Given the description of an element on the screen output the (x, y) to click on. 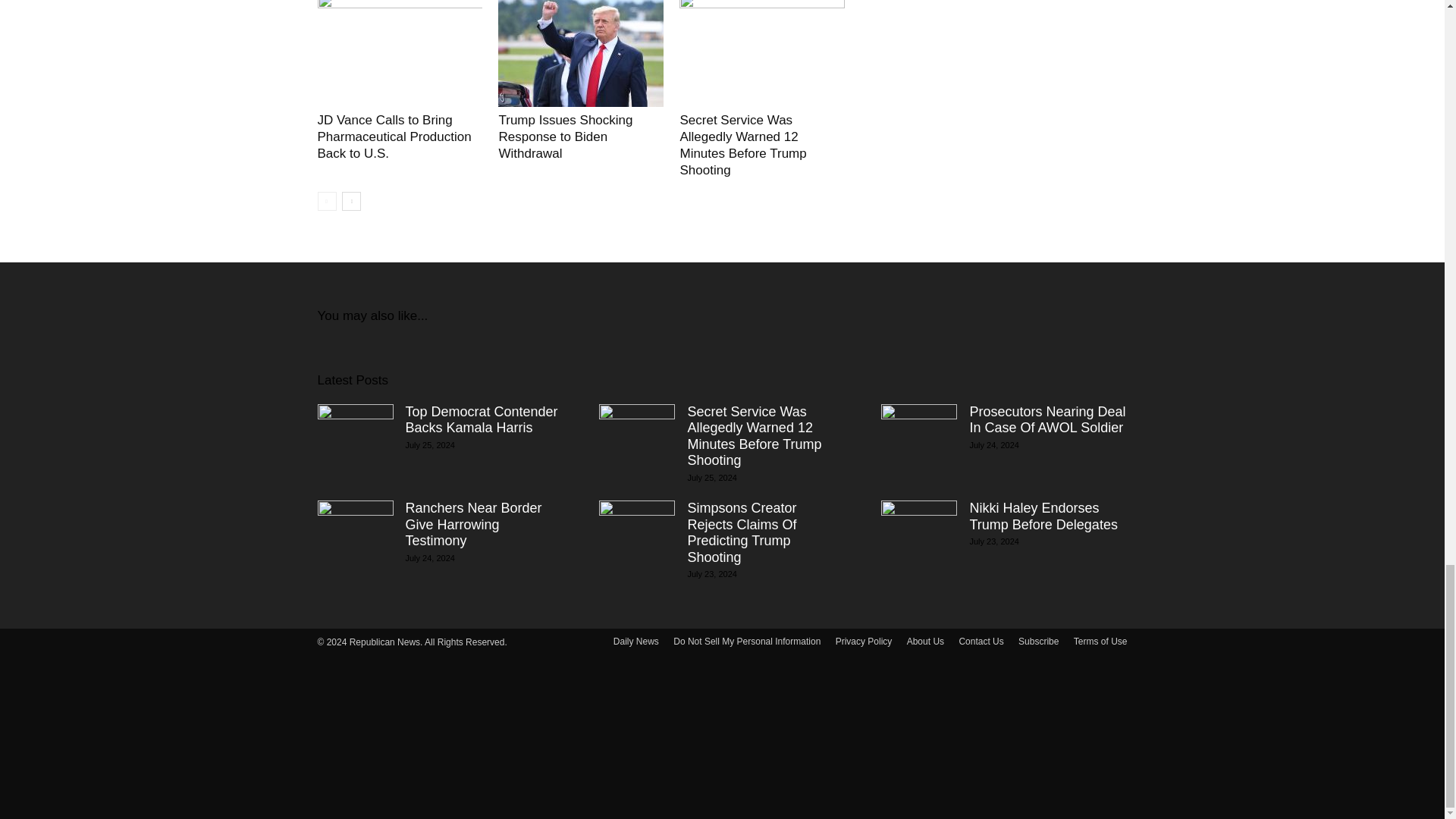
Trump Issues Shocking Response to Biden Withdrawal (564, 136)
Trump Issues Shocking Response to Biden Withdrawal (580, 53)
